Given the description of an element on the screen output the (x, y) to click on. 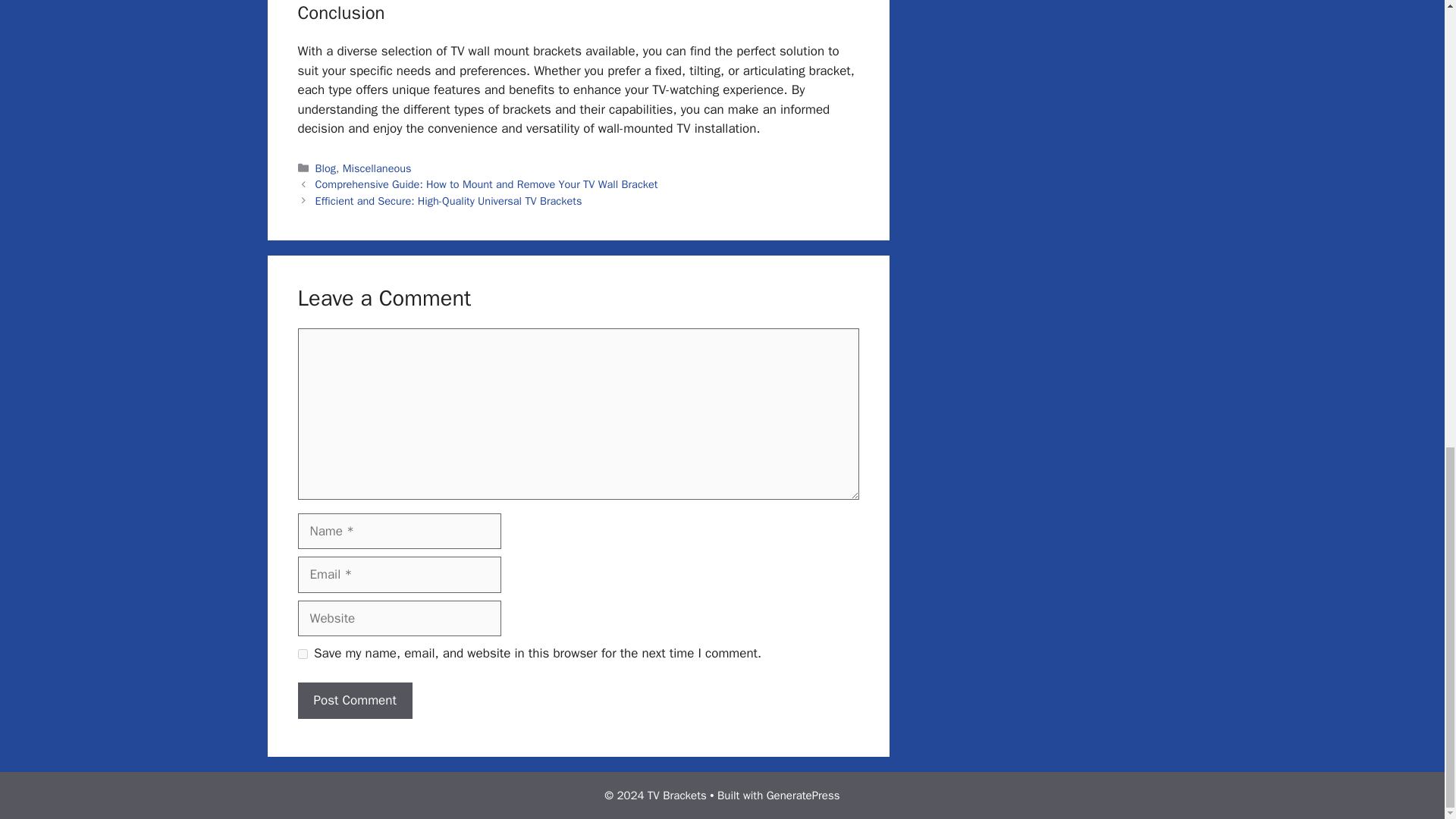
Blog (325, 168)
Post Comment (354, 700)
Post Comment (354, 700)
Miscellaneous (377, 168)
yes (302, 654)
GeneratePress (803, 795)
Efficient and Secure: High-Quality Universal TV Brackets (448, 201)
